Given the description of an element on the screen output the (x, y) to click on. 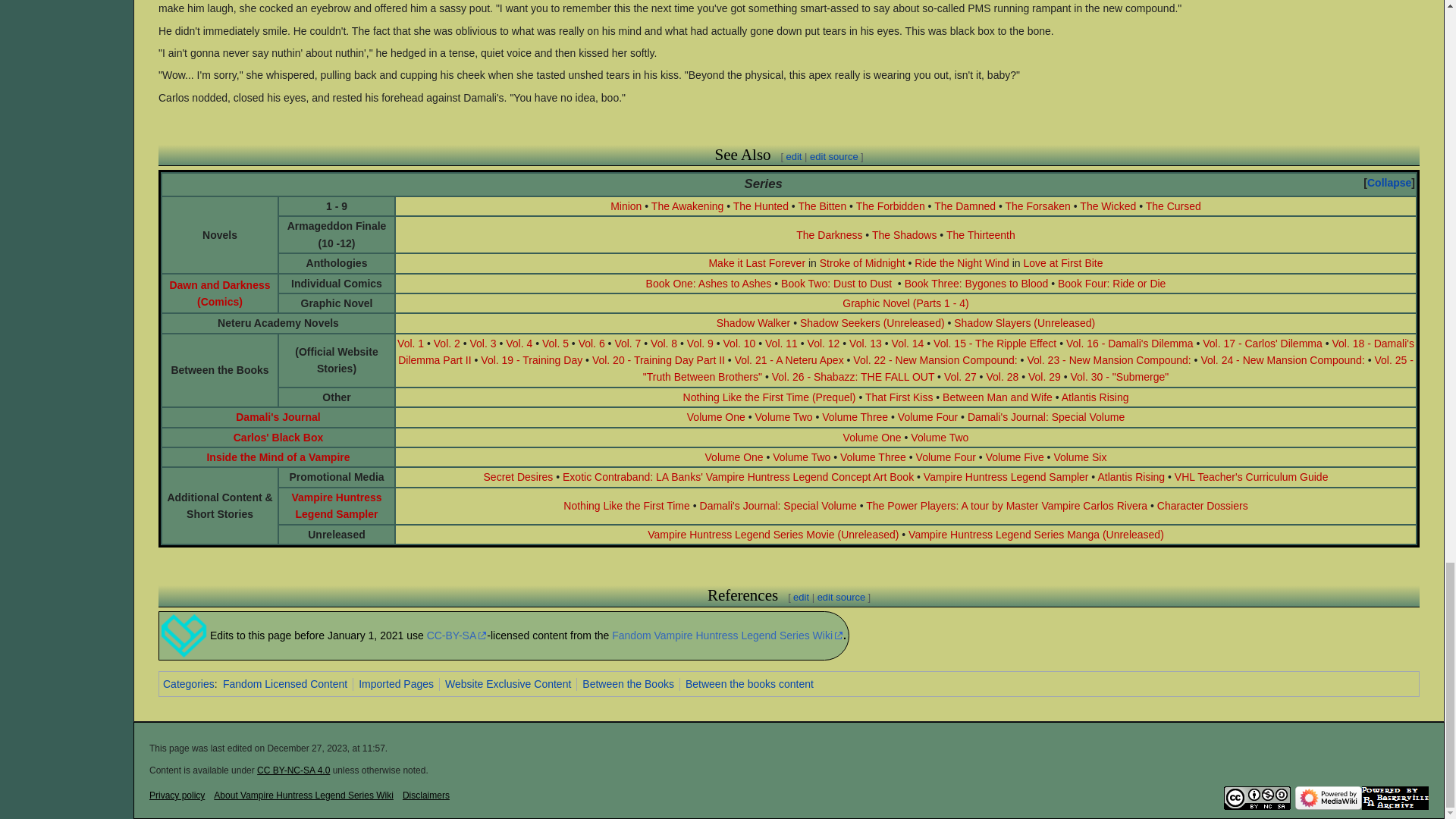
The Damned (964, 205)
The Wicked (1107, 205)
Vol. 2 (446, 343)
The Shadows (904, 234)
The Bitten (821, 205)
edit source (834, 156)
Shadow Walker (753, 322)
Stroke of Midnight (862, 263)
Book Four: Ride or Die (1112, 283)
Love at First Bite (1062, 263)
Vol. 1 (410, 343)
Edit section: See Also (834, 156)
The Awakening (686, 205)
Vol. 3 (483, 343)
Edit section: See Also (794, 156)
